Given the description of an element on the screen output the (x, y) to click on. 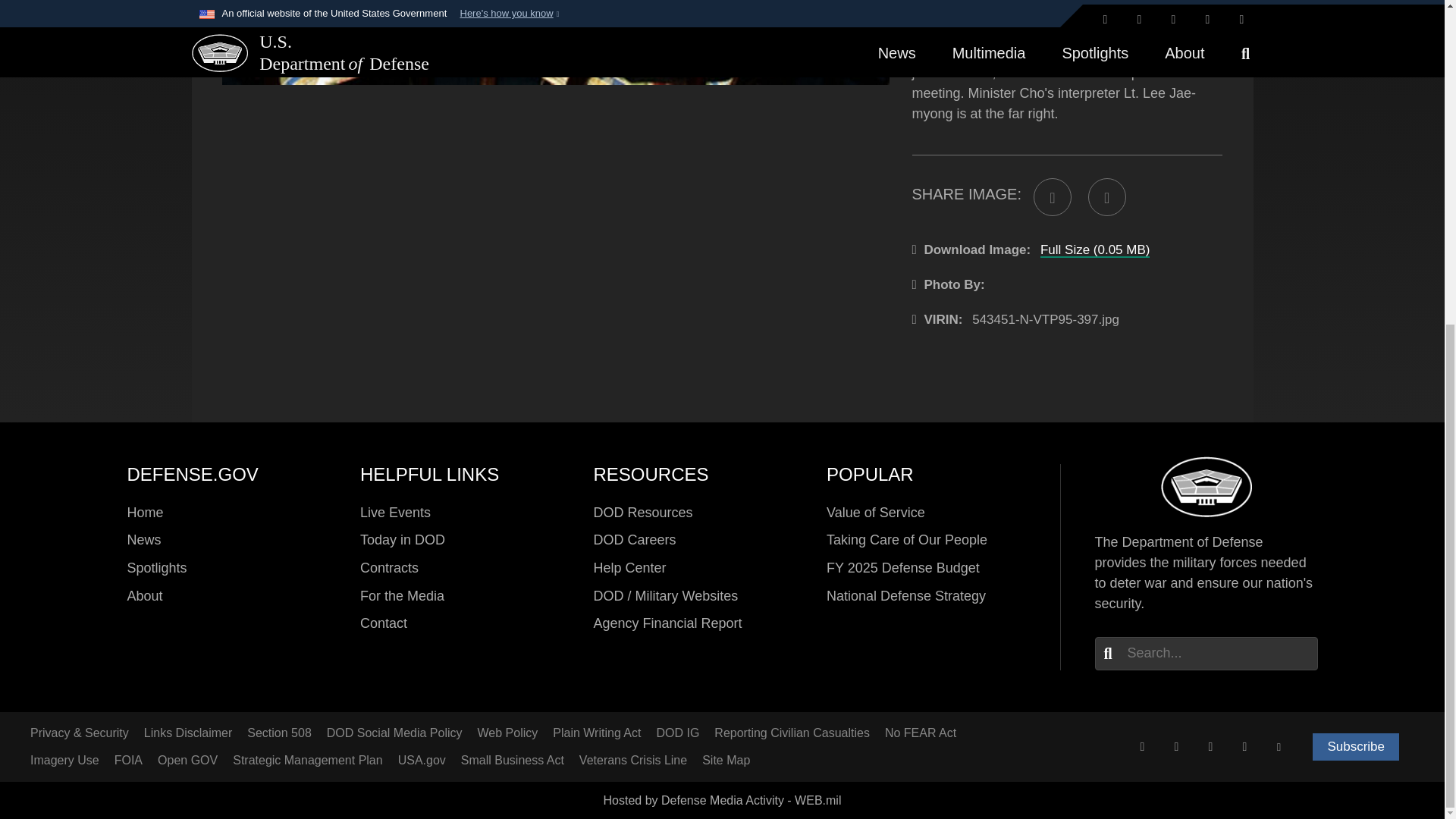
Facebook (1176, 746)
YouTube (1278, 746)
Instagram (1209, 746)
X (1142, 746)
LinkedIn (1244, 746)
